Given the description of an element on the screen output the (x, y) to click on. 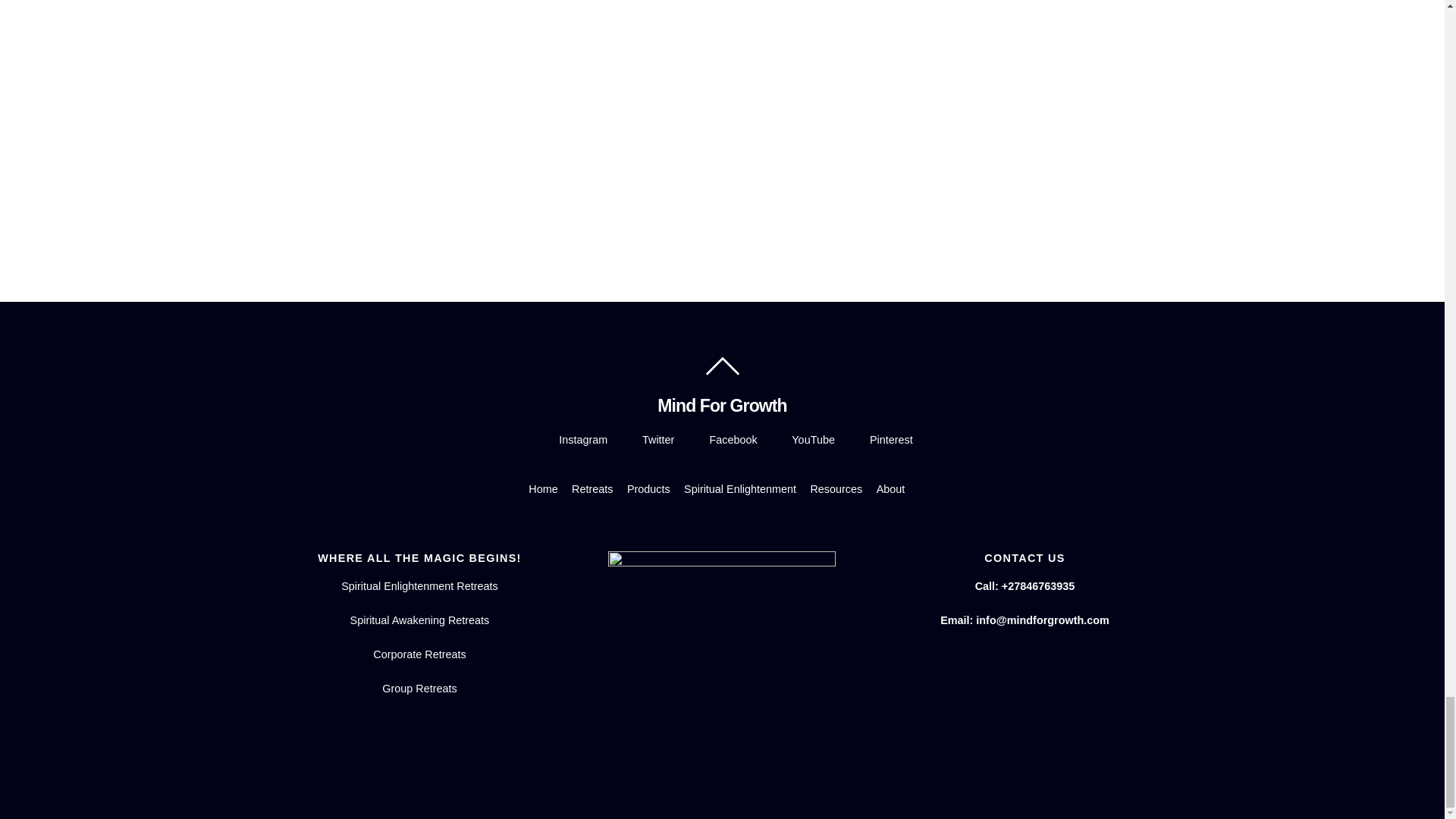
Mind For Growth (722, 405)
